Given the description of an element on the screen output the (x, y) to click on. 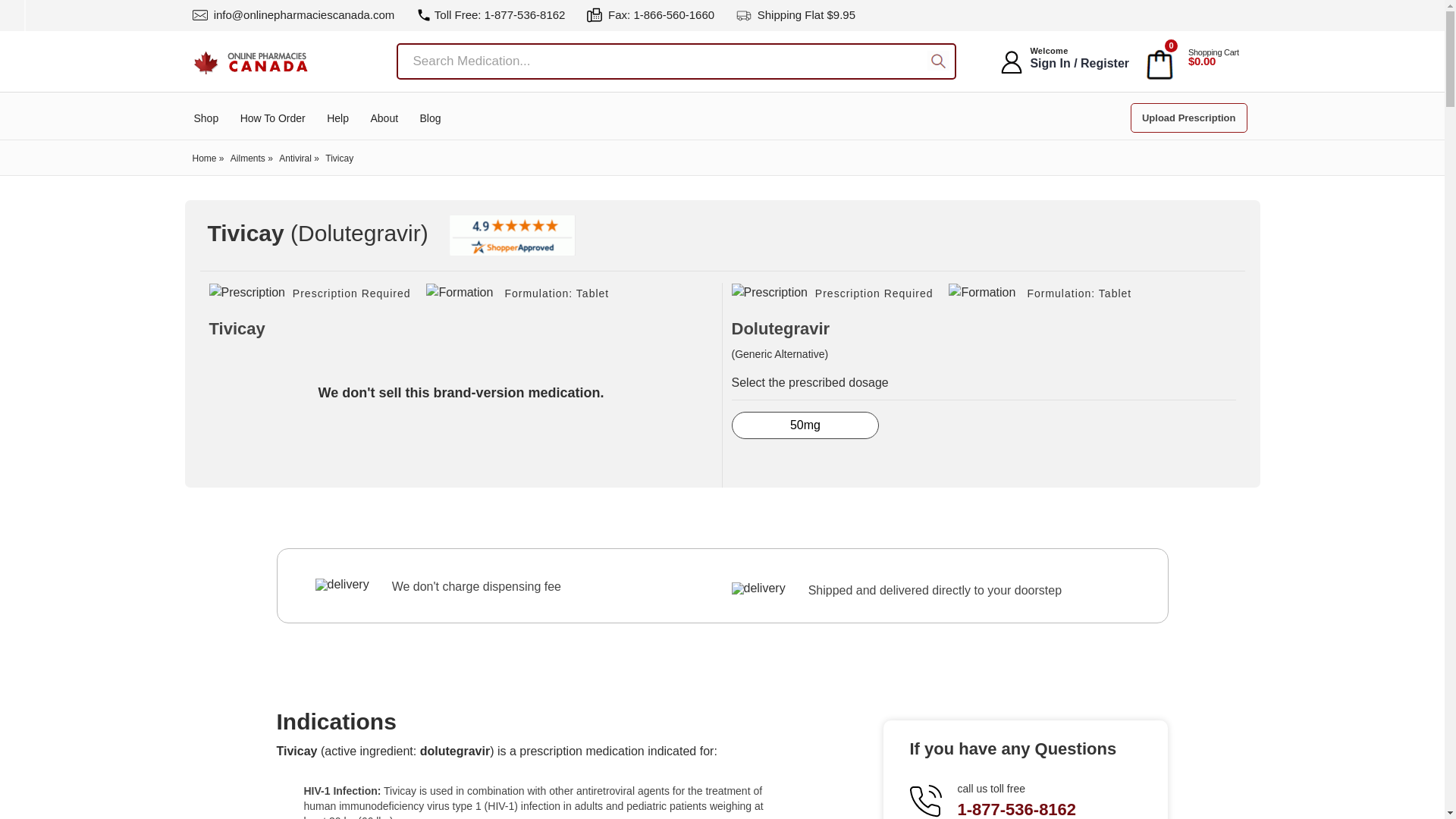
Search (938, 62)
Blog (430, 118)
Fax: 1-866-560-1660 (650, 14)
About (383, 118)
0 (1158, 62)
Help (337, 118)
Shop (206, 118)
Toll Free: 1-877-536-8162 (491, 14)
How To Order (272, 118)
